Given the description of an element on the screen output the (x, y) to click on. 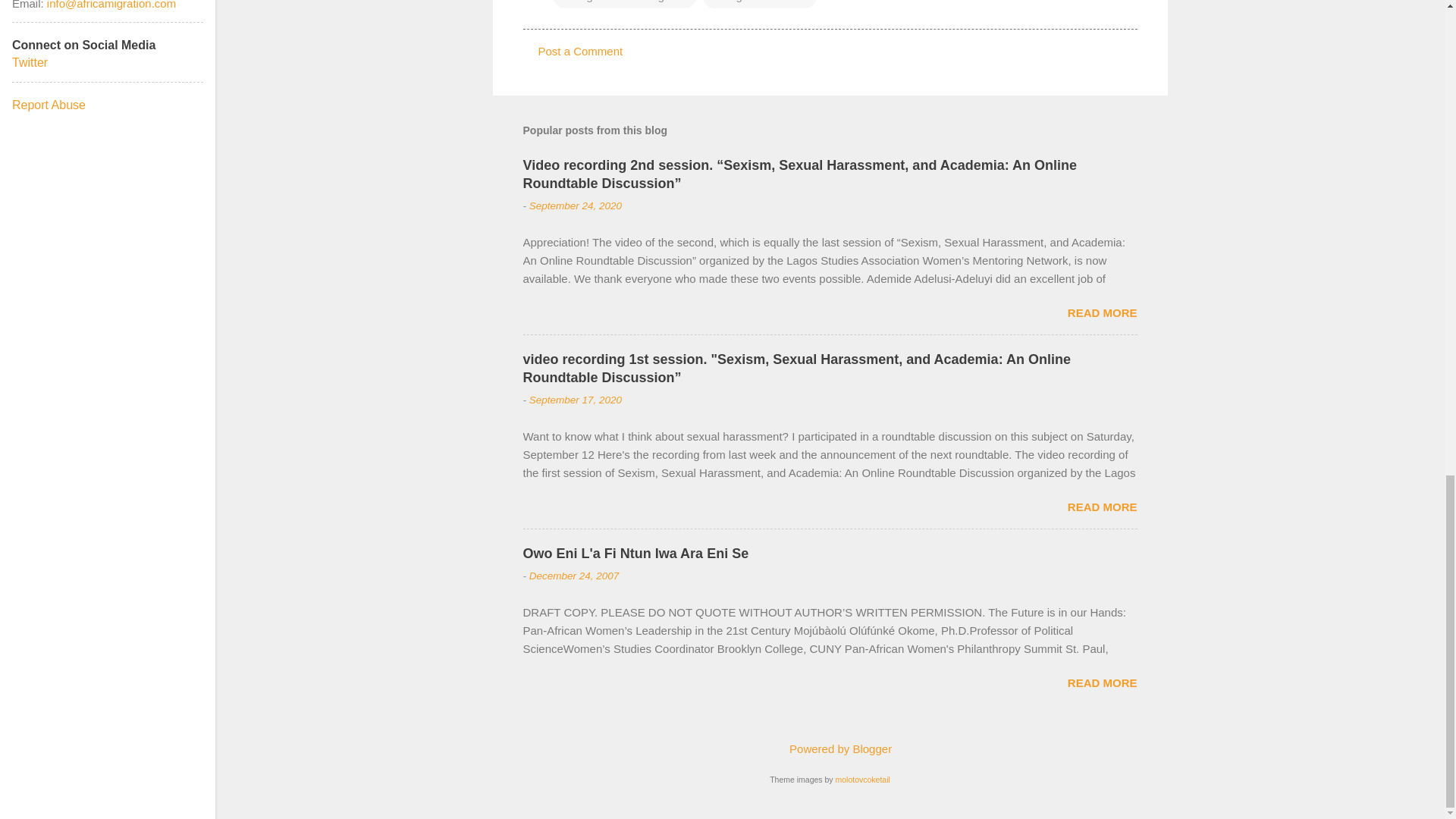
September 24, 2020 (575, 205)
permanent link (575, 205)
September 17, 2020 (575, 399)
READ MORE (1102, 312)
Post a Comment (580, 51)
